Given the description of an element on the screen output the (x, y) to click on. 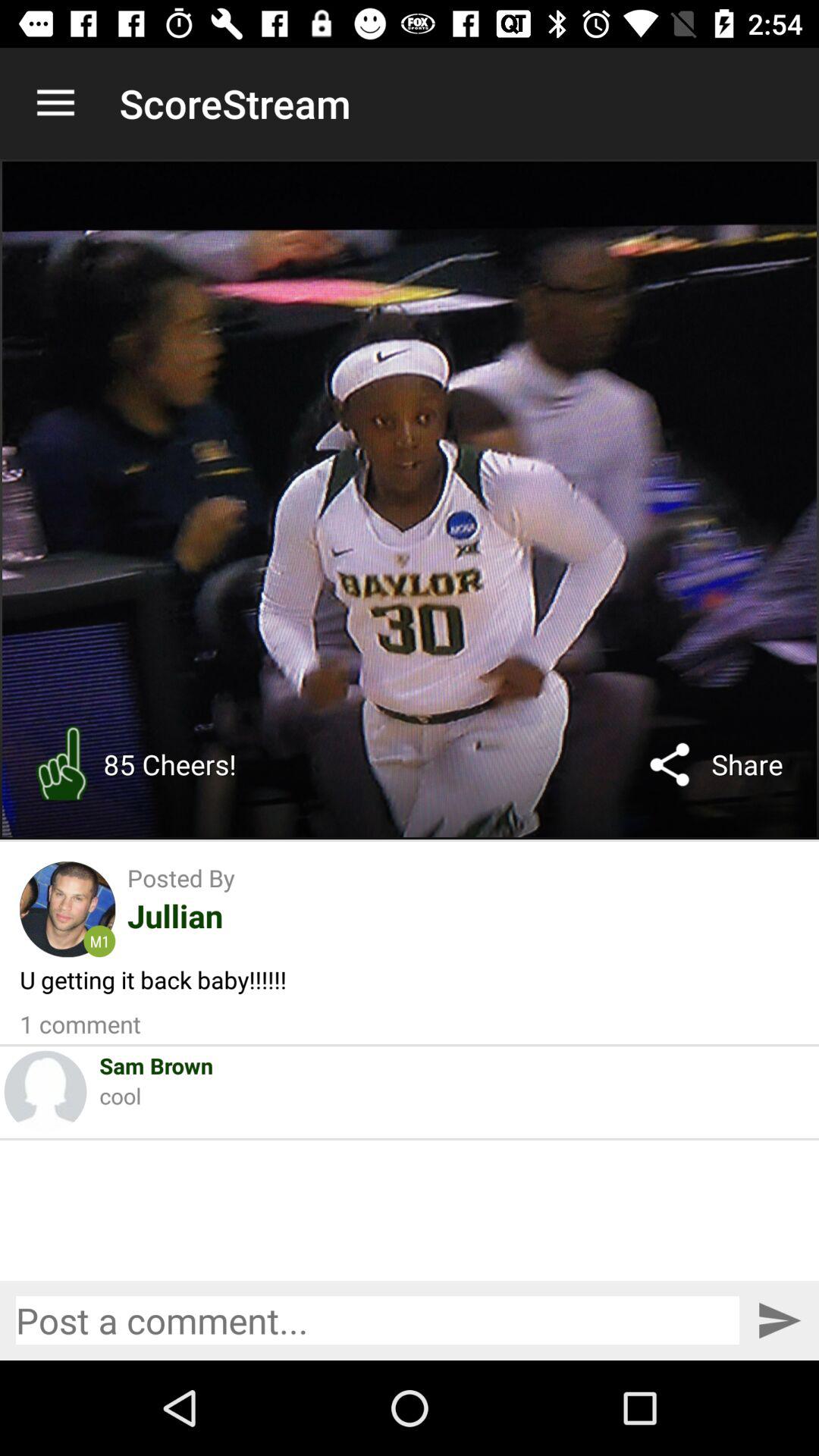
click jullian (174, 915)
